Given the description of an element on the screen output the (x, y) to click on. 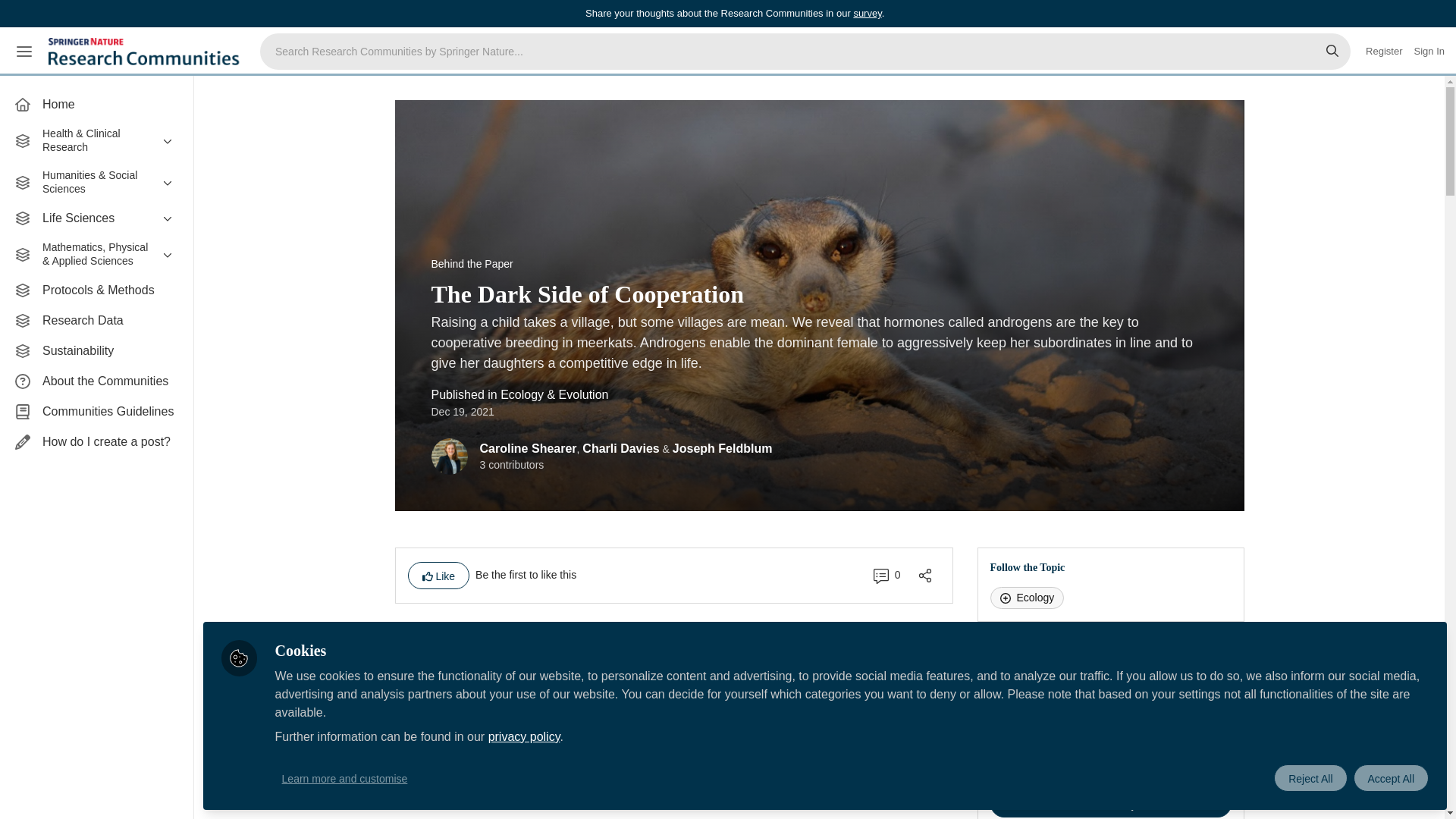
Menu (24, 51)
Home (96, 103)
Life Sciences (96, 217)
Life Sciences (96, 217)
Home (96, 103)
Research Communities by Springer Nature (146, 51)
survey (866, 12)
Search (1332, 51)
